Given the description of an element on the screen output the (x, y) to click on. 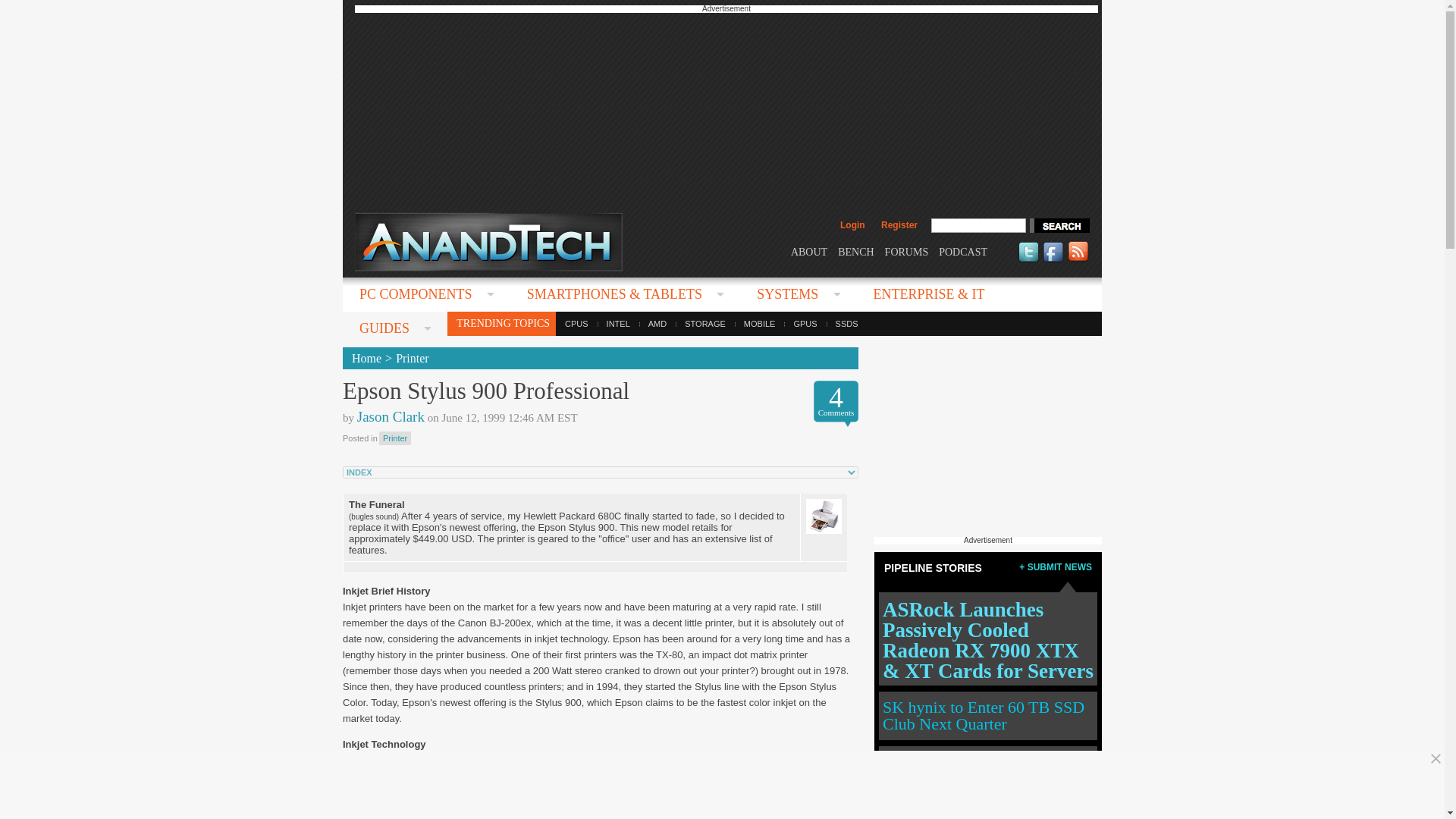
search (1059, 225)
ABOUT (808, 251)
FORUMS (906, 251)
PODCAST (963, 251)
search (1059, 225)
Register (898, 225)
BENCH (855, 251)
search (1059, 225)
Login (852, 225)
